Given the description of an element on the screen output the (x, y) to click on. 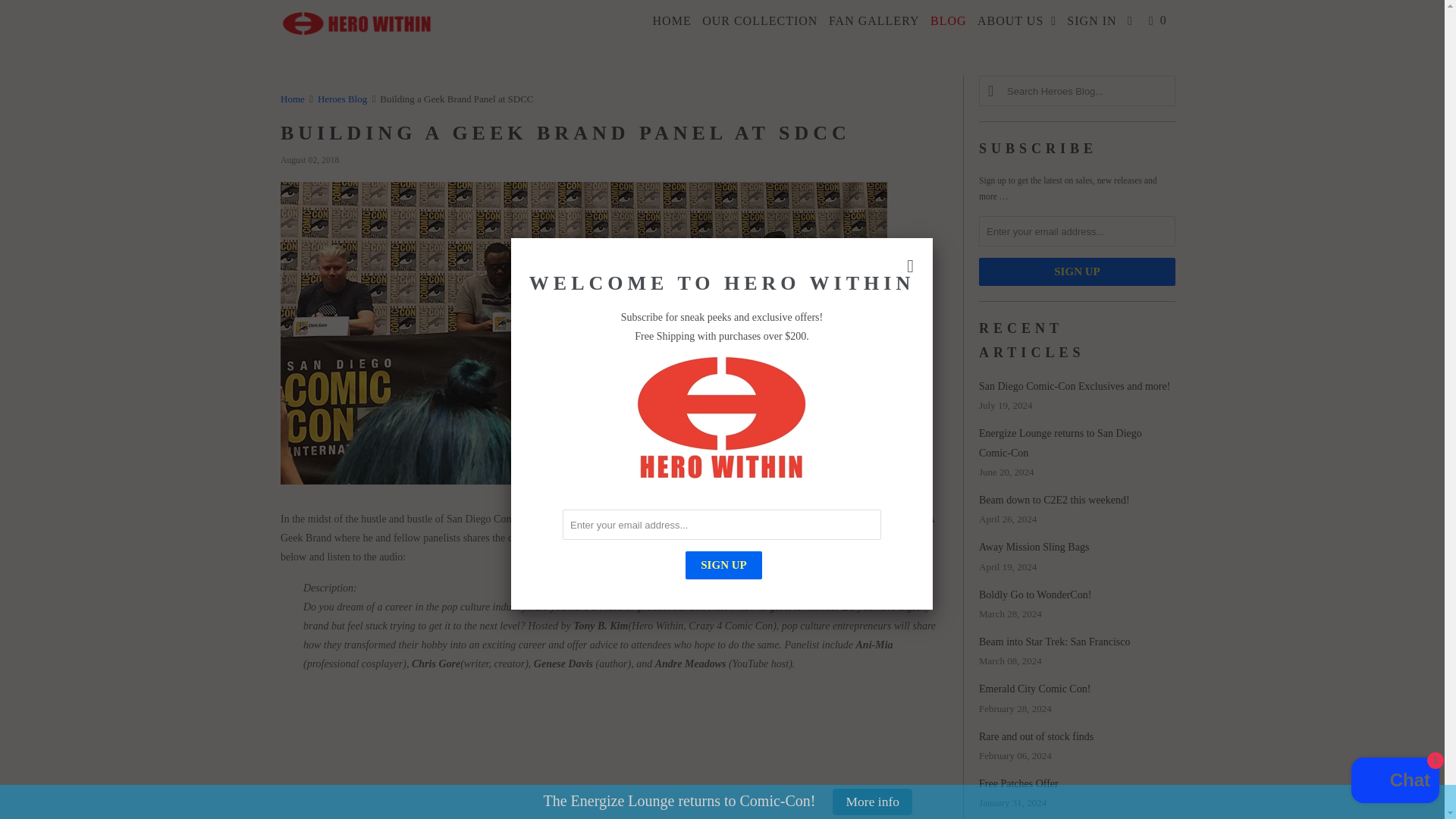
Hero Within (357, 27)
Heroes Blog (341, 98)
OUR COLLECTION (759, 21)
Heroes Blog (341, 98)
Energize Lounge returns to San Diego Comic-Con (1059, 442)
Sign Up (1076, 271)
Away Mission Sling Bags (1033, 546)
FAN GALLERY (874, 21)
Home (292, 98)
Emerald City Comic Con! (1034, 688)
San Diego Comic-Con Exclusives and more! (1074, 386)
ABOUT US   (1017, 21)
Sign Up (723, 565)
HOME (671, 21)
BLOG (948, 21)
